Given the description of an element on the screen output the (x, y) to click on. 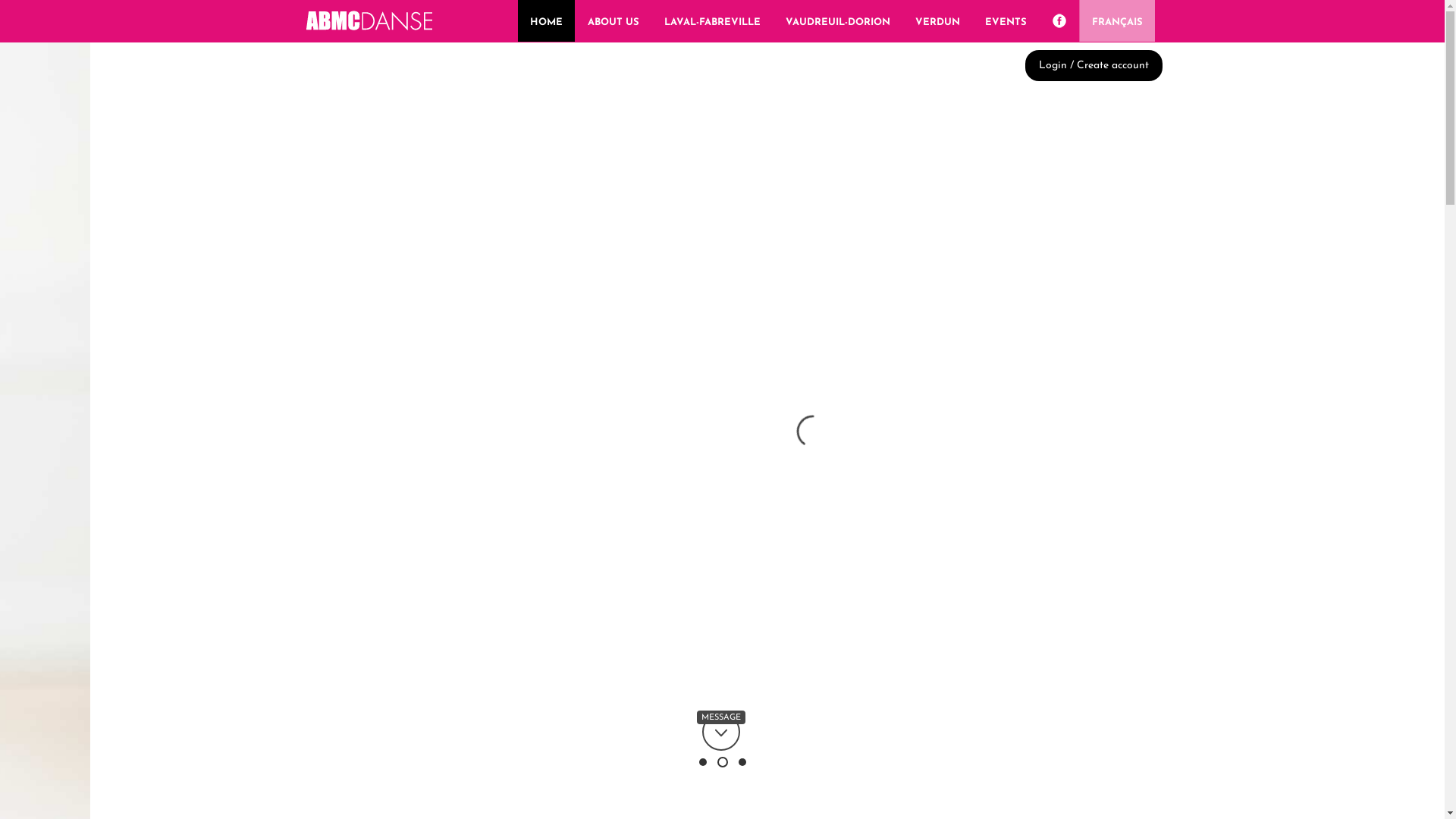
VERDUN Element type: text (936, 20)
HOME Element type: text (545, 20)
LAVAL-FABREVILLE Element type: text (712, 20)
VAUDREUIL-DORION Element type: text (837, 20)
Login / Create account Element type: text (1093, 65)
ABOUT US Element type: text (612, 20)
EVENTS Element type: text (1005, 20)
